Given the description of an element on the screen output the (x, y) to click on. 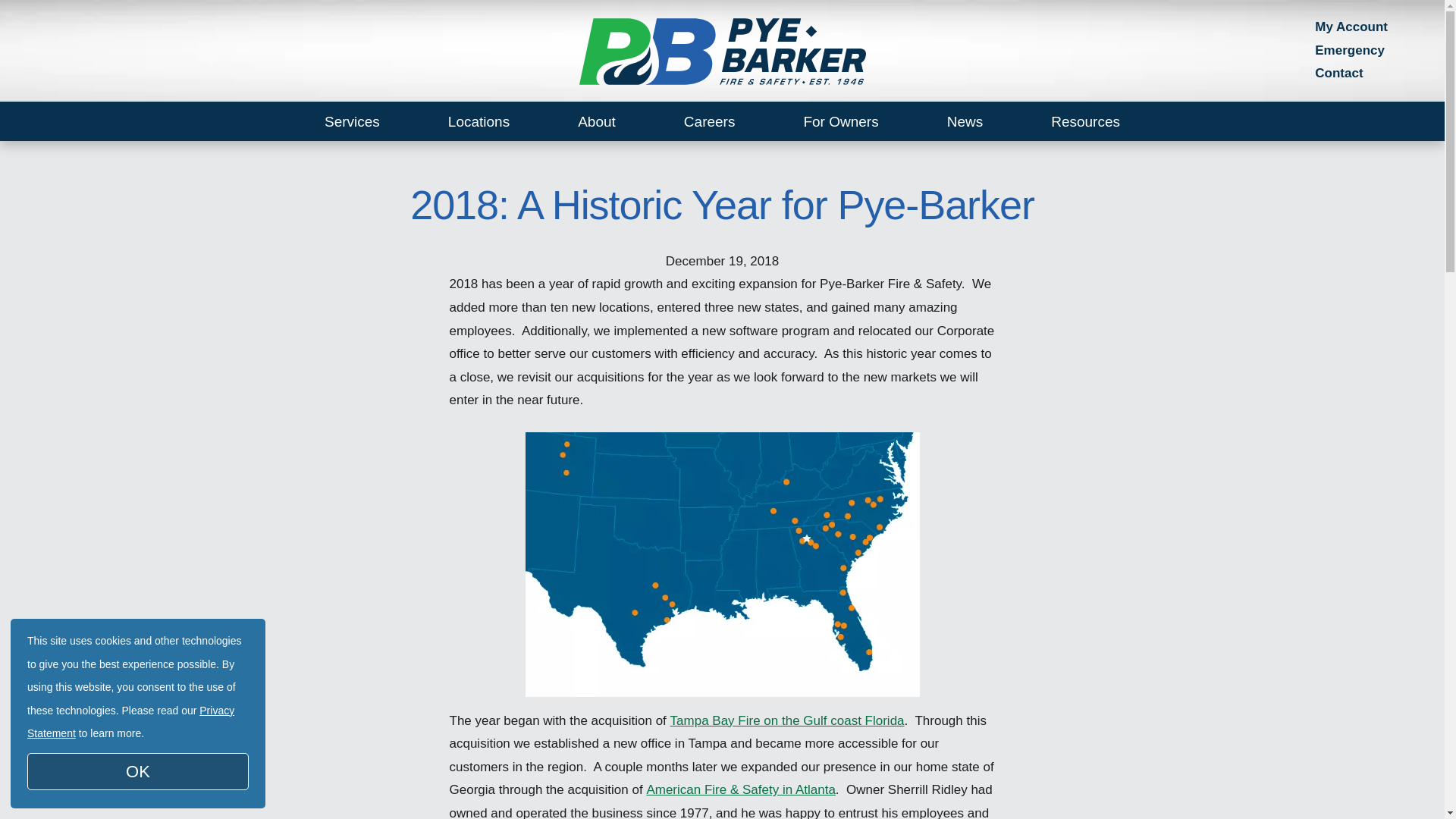
Emergency (1349, 50)
My Account (1350, 26)
Privacy Statement (130, 722)
Contact (1338, 73)
Services (352, 121)
OK (137, 771)
